Given the description of an element on the screen output the (x, y) to click on. 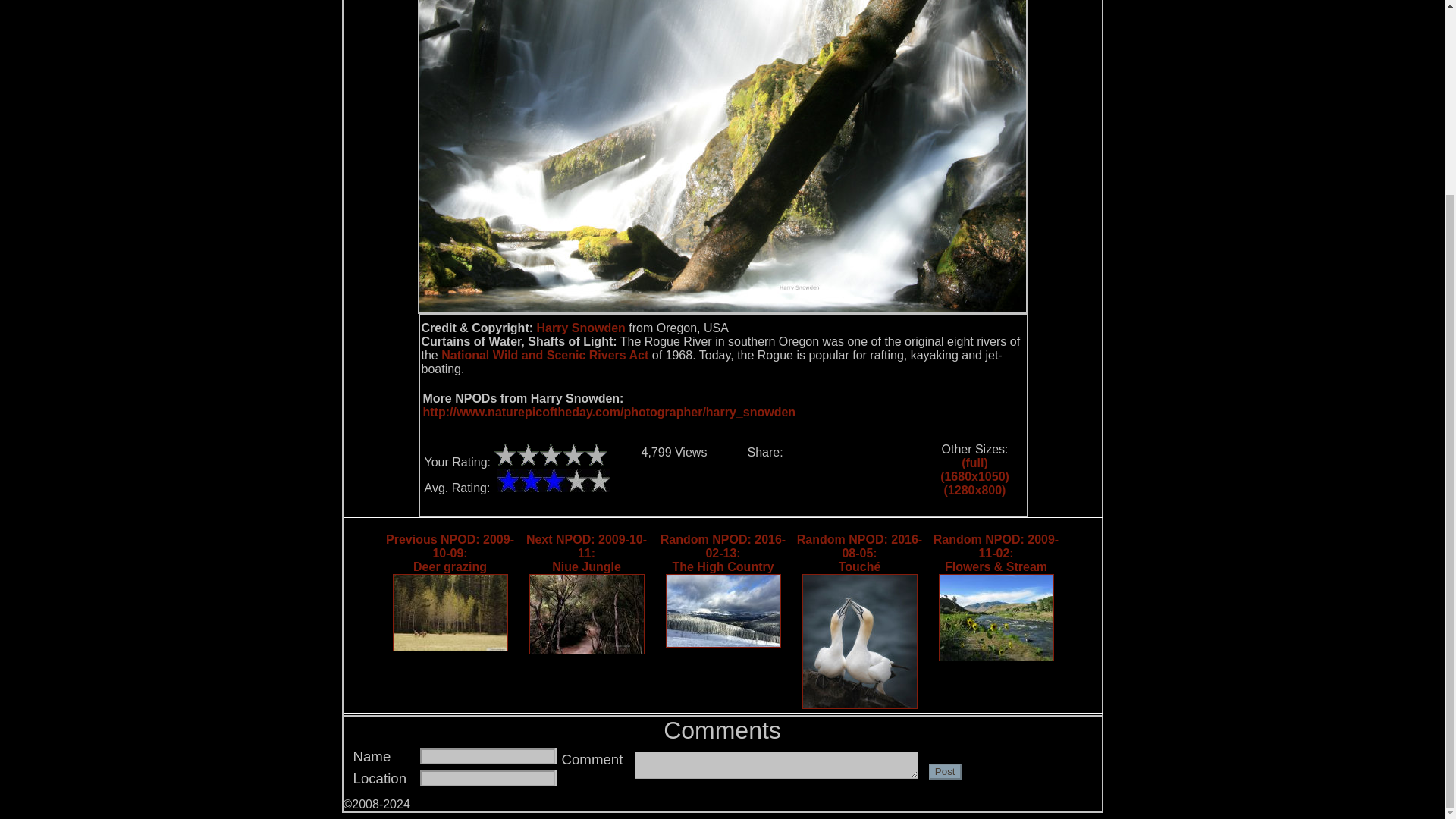
3.1 (585, 594)
National Wild and Scenic Rivers Act (553, 480)
Harry Snowden (544, 354)
Post (581, 327)
